Given the description of an element on the screen output the (x, y) to click on. 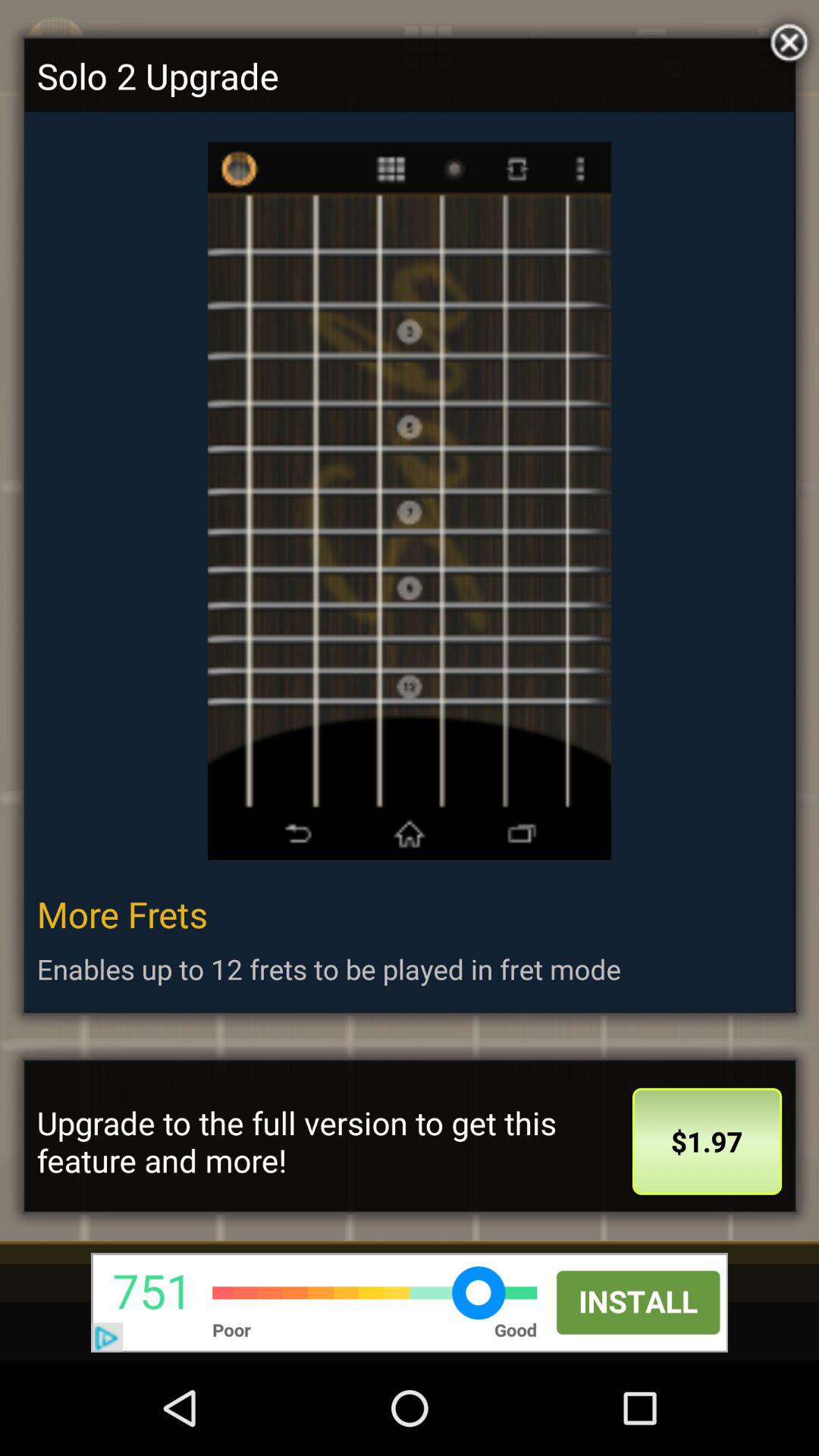
click to close option (786, 38)
